Given the description of an element on the screen output the (x, y) to click on. 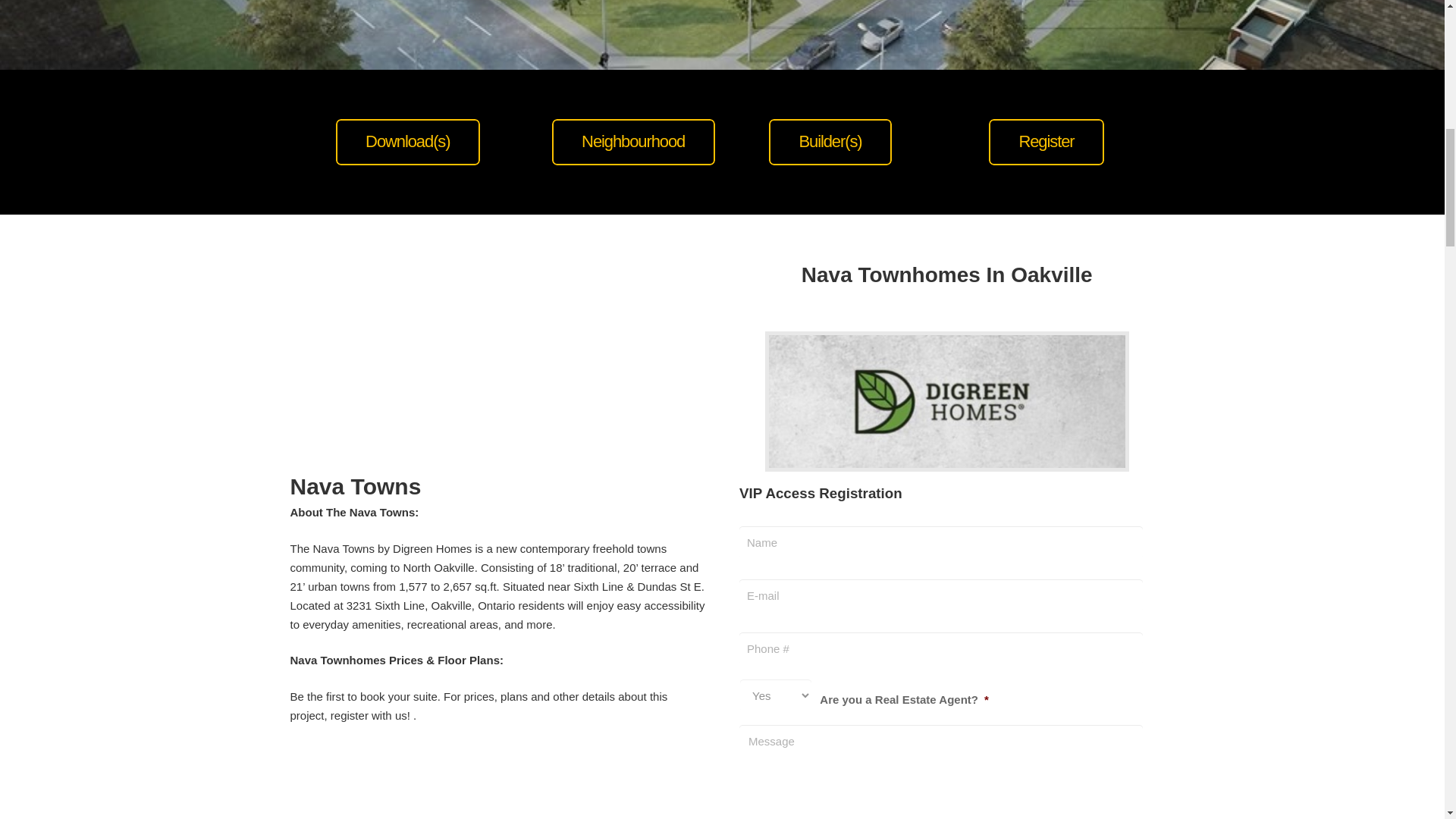
Back to top (1413, 26)
